Given the description of an element on the screen output the (x, y) to click on. 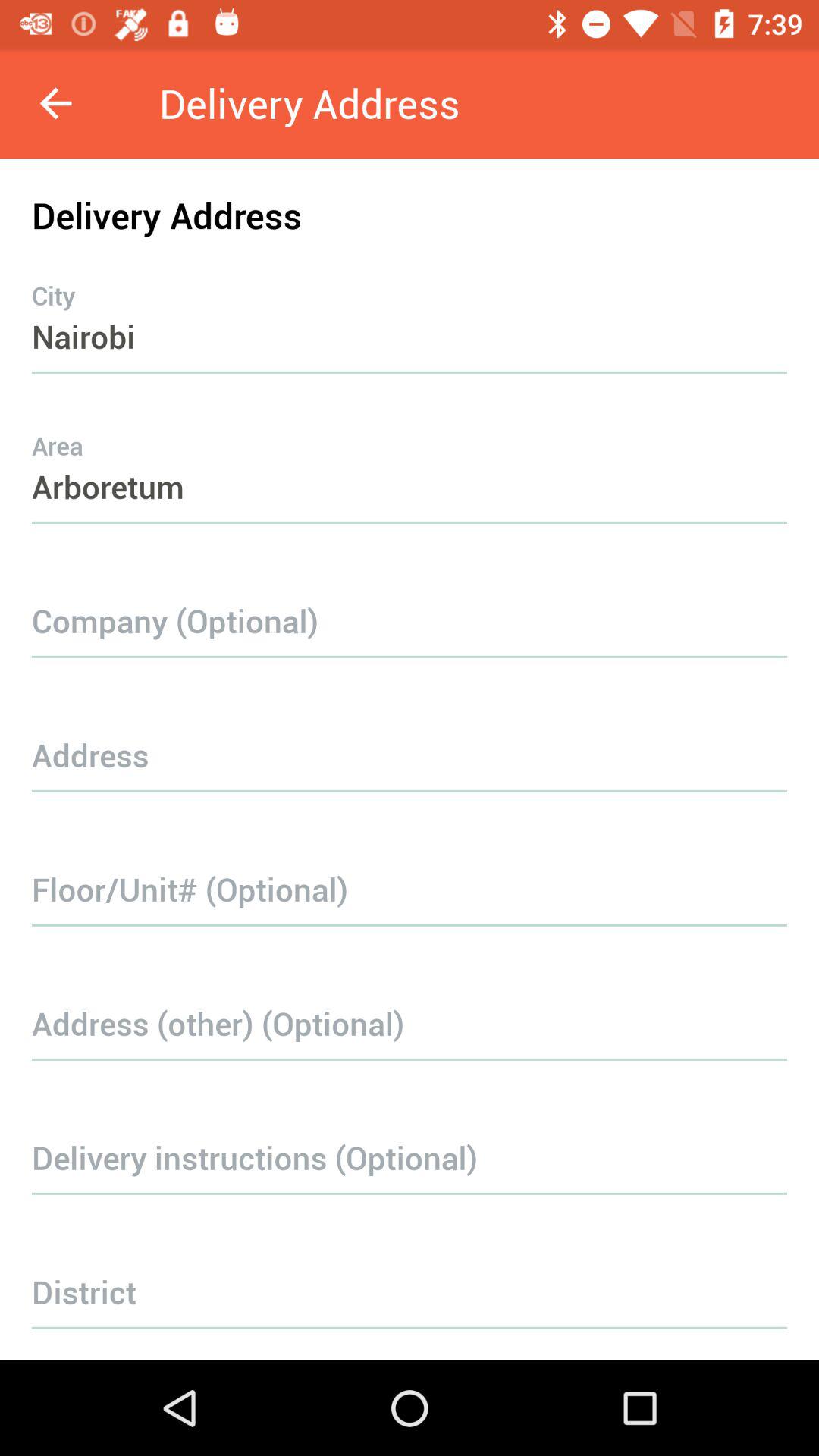
turn on the icon next to delivery address (55, 103)
